Given the description of an element on the screen output the (x, y) to click on. 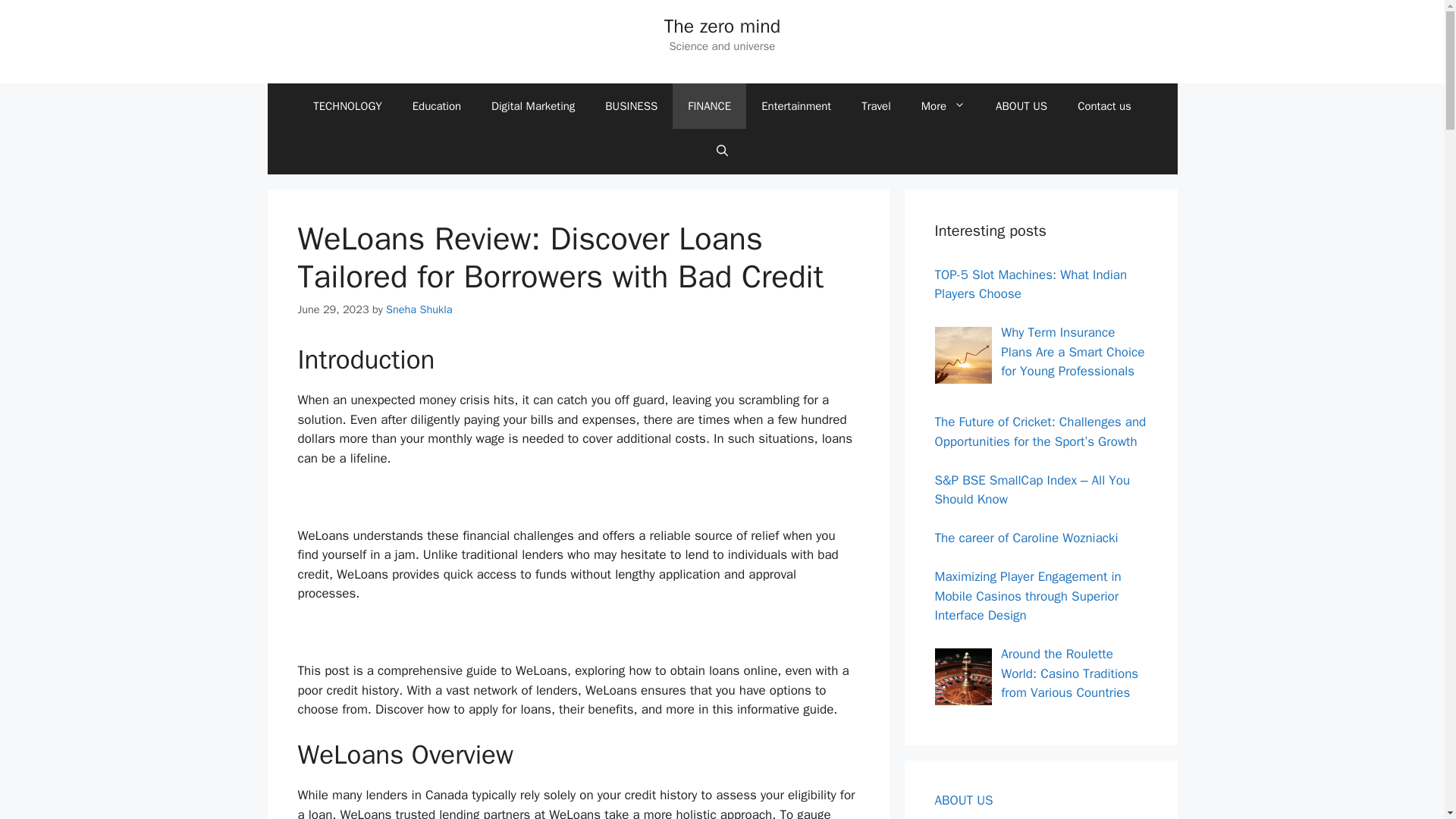
TOP-5 Slot Machines: What Indian Players Choose (1030, 284)
View all posts by Sneha Shukla (418, 308)
Contact us (964, 818)
Education (436, 105)
TECHNOLOGY (347, 105)
Contact us (1104, 105)
Sneha Shukla (418, 308)
ABOUT US (963, 800)
More (942, 105)
The zero mind (721, 25)
FINANCE (708, 105)
Travel (875, 105)
Entertainment (795, 105)
